Given the description of an element on the screen output the (x, y) to click on. 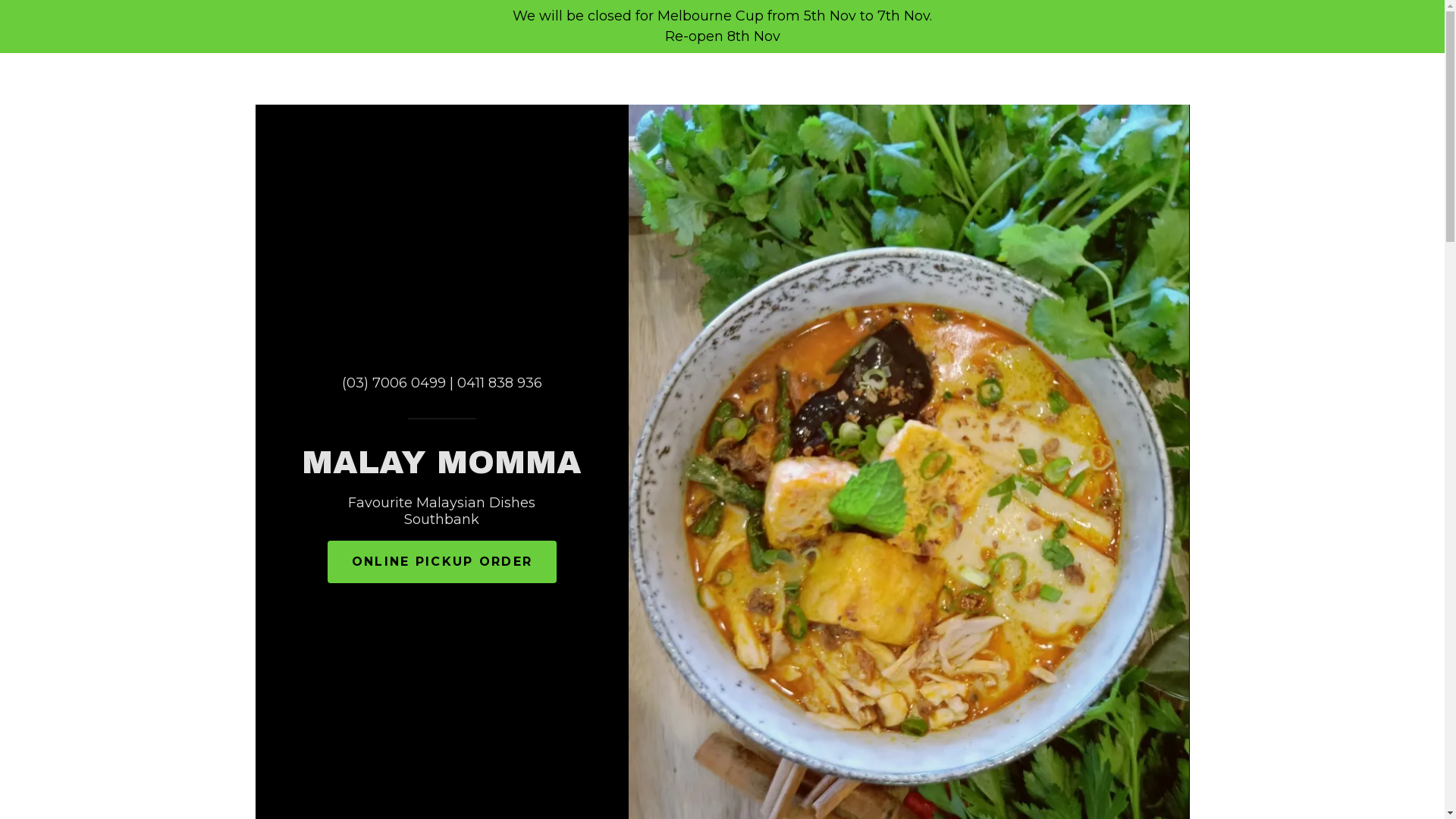
0411 838 936 Element type: text (499, 382)
ONLINE PICKUP ORDER Element type: text (441, 561)
MALAY MOMMA Element type: text (441, 468)
(03) 7006 0499 Element type: text (393, 382)
